Given the description of an element on the screen output the (x, y) to click on. 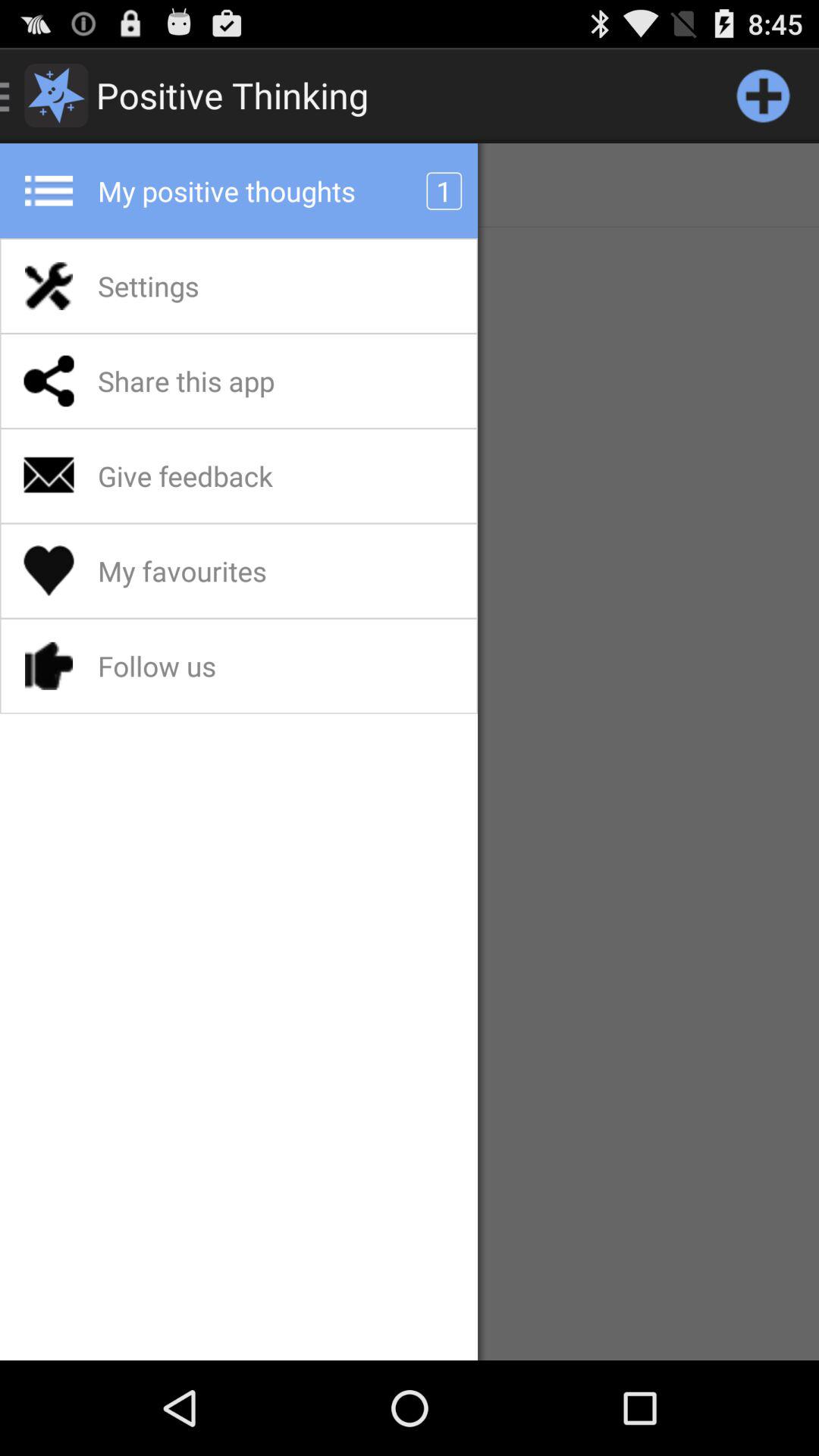
turn off icon at the top right corner (763, 95)
